Given the description of an element on the screen output the (x, y) to click on. 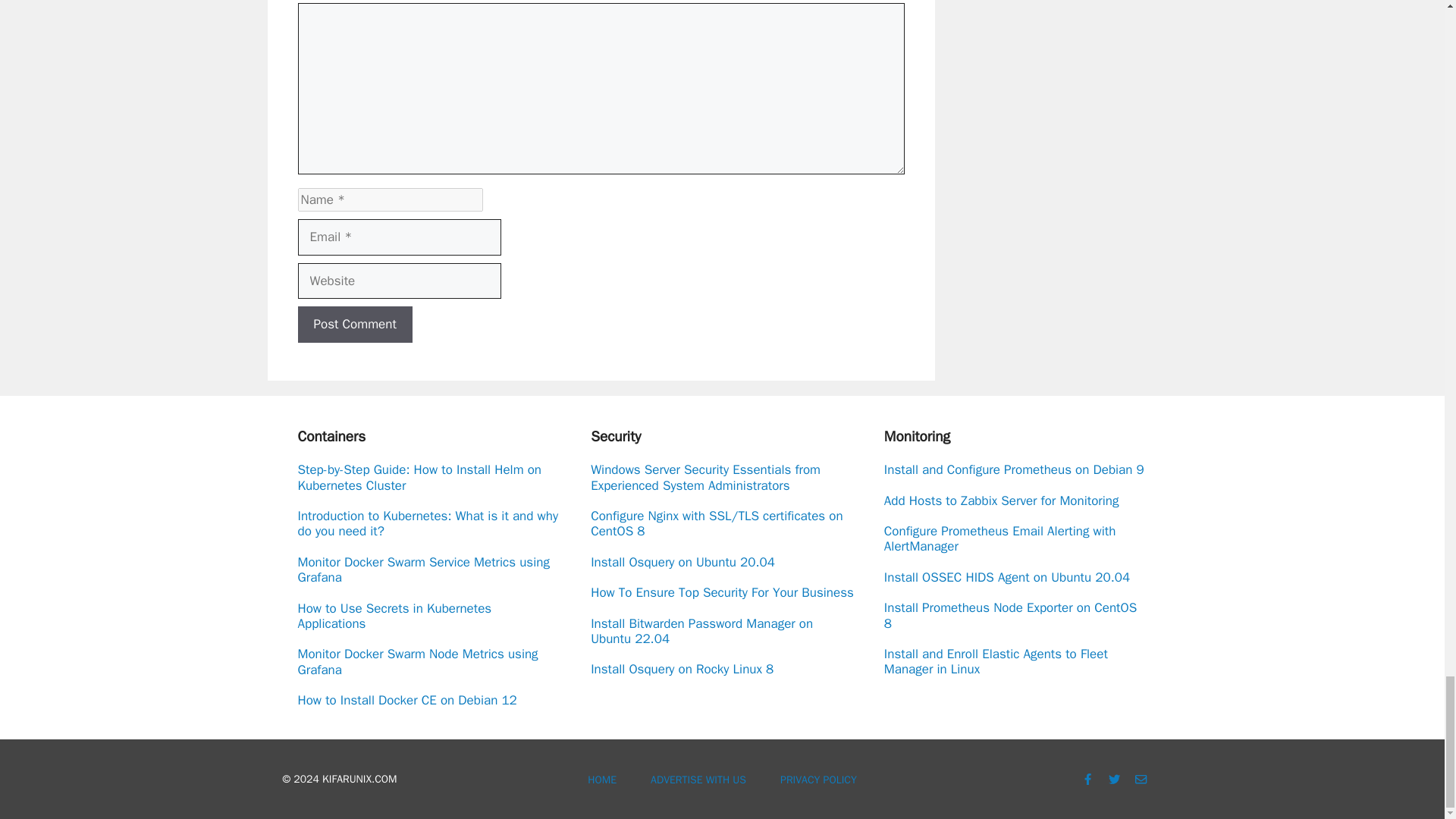
Post Comment (354, 324)
